Given the description of an element on the screen output the (x, y) to click on. 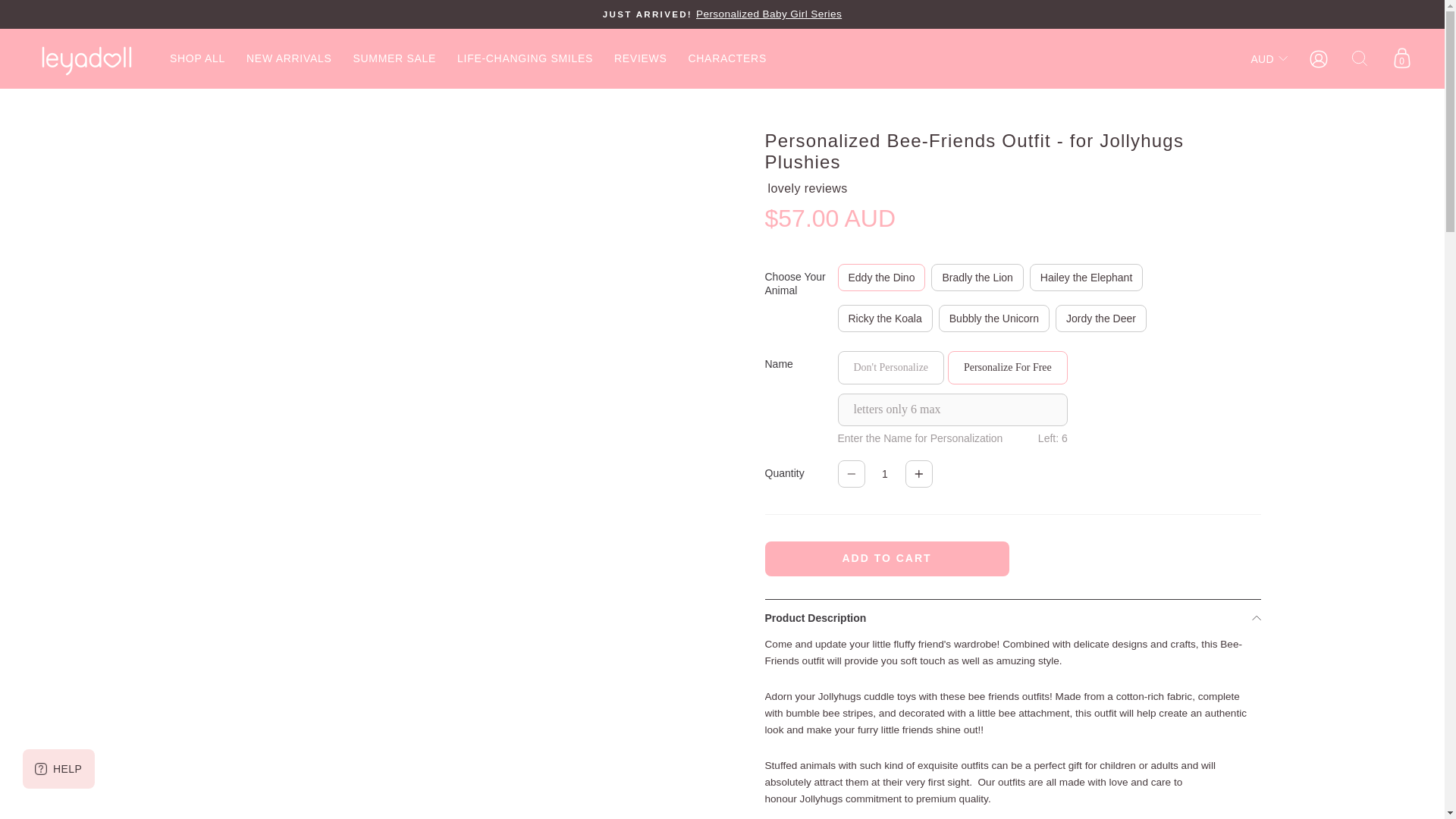
REVIEWS (640, 58)
1 (884, 473)
LIFE-CHANGING SMILES (525, 58)
JUST ARRIVED!Personalized Baby Girl Series (722, 14)
SUMMER SALE (394, 58)
SHOP ALL (196, 58)
NEW ARRIVALS (288, 58)
